Given the description of an element on the screen output the (x, y) to click on. 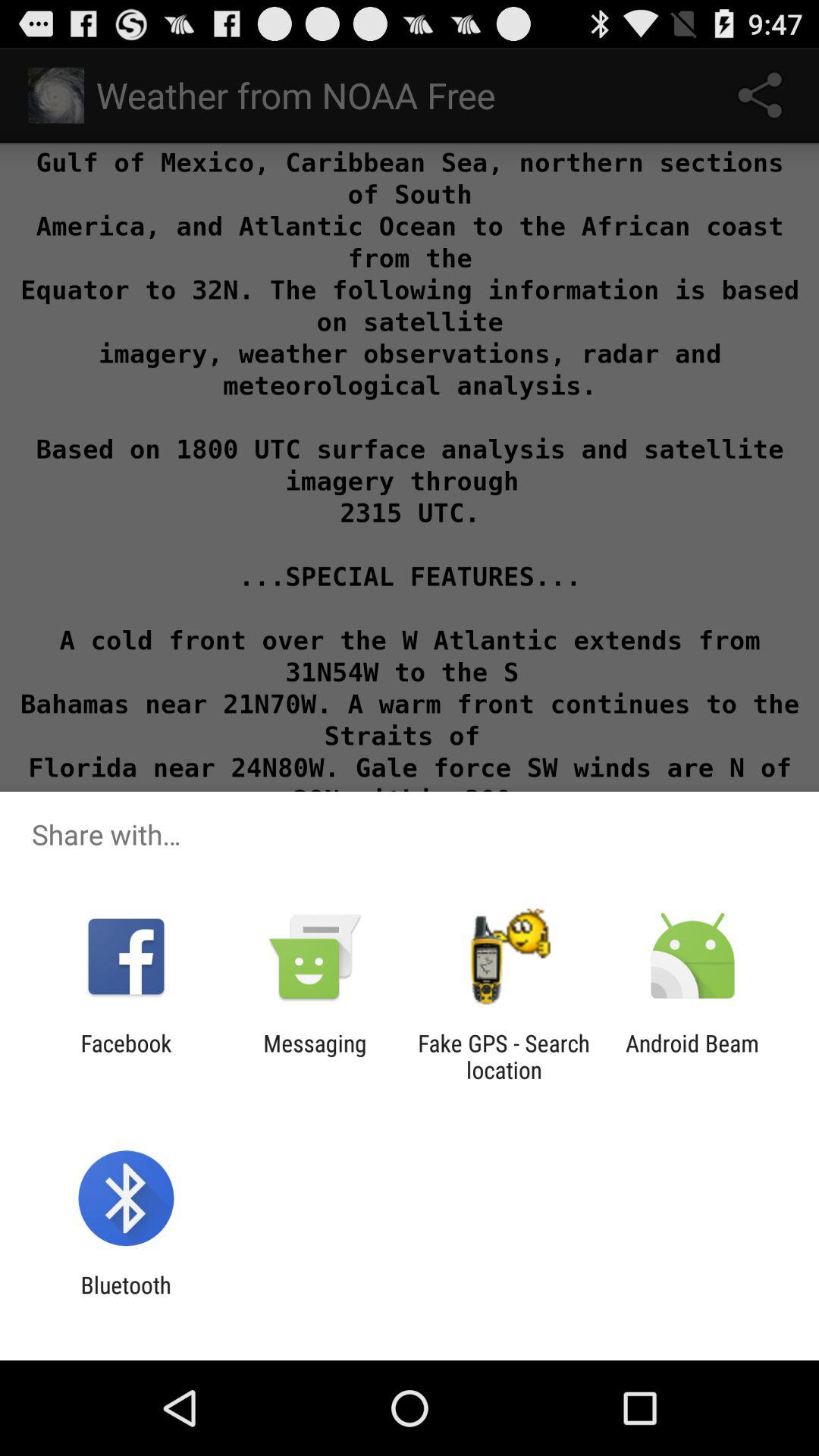
turn off app to the right of the messaging app (503, 1056)
